Given the description of an element on the screen output the (x, y) to click on. 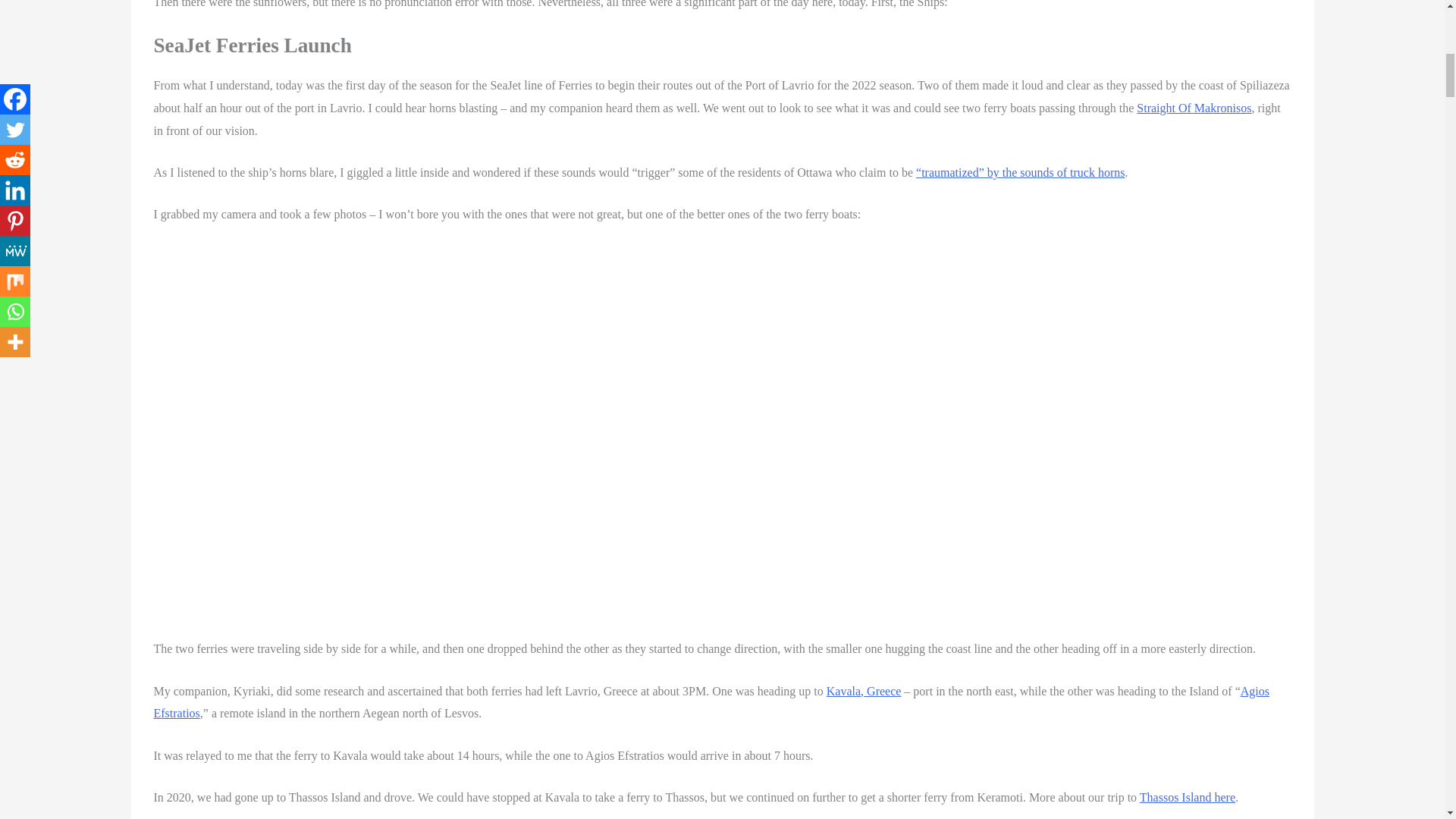
Kavala, Greece (864, 690)
Agios Efstratios (710, 702)
Thassos Island here (1187, 797)
Straight Of Makronisos (1193, 107)
